Given the description of an element on the screen output the (x, y) to click on. 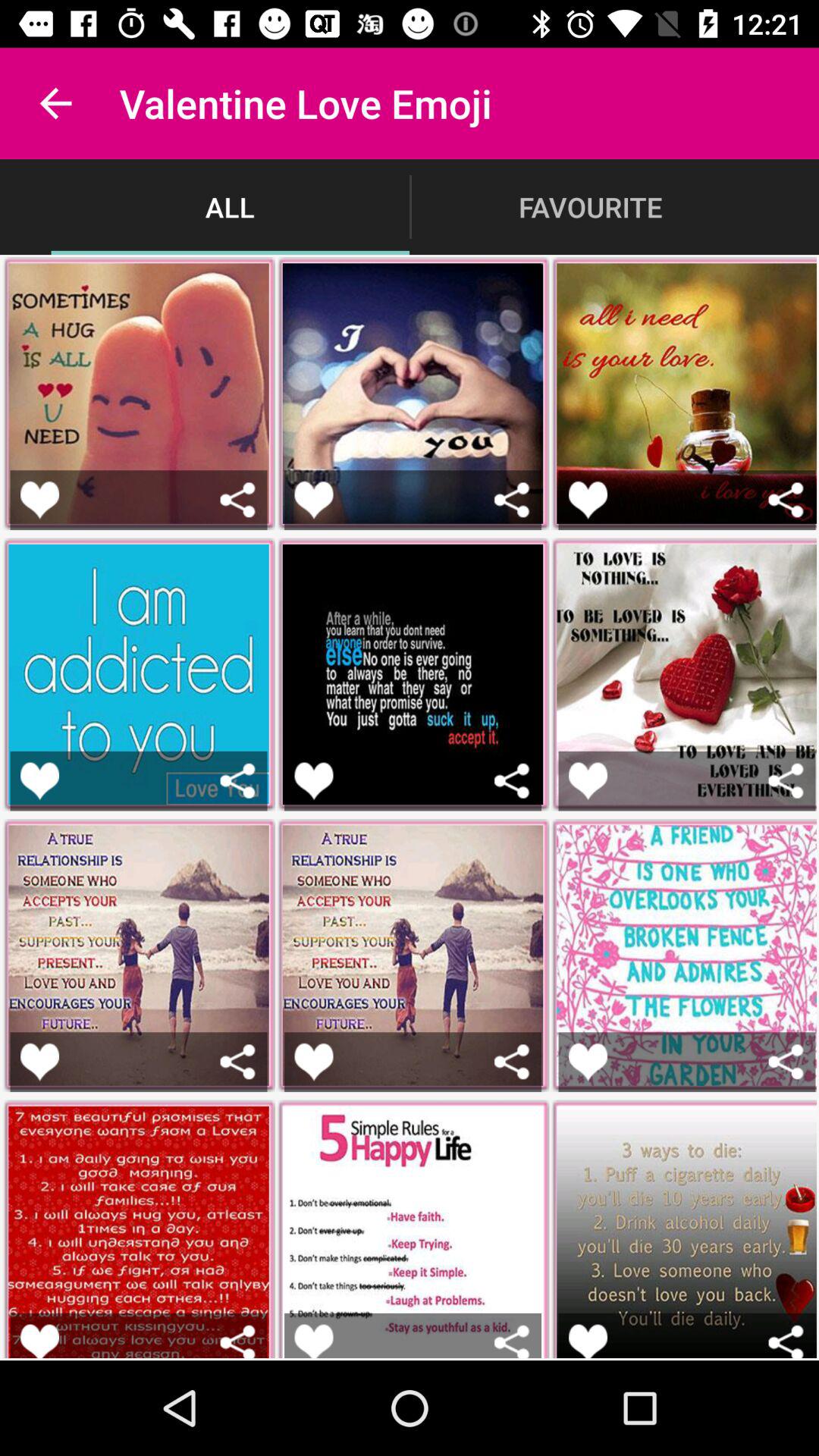
similar items (785, 780)
